Given the description of an element on the screen output the (x, y) to click on. 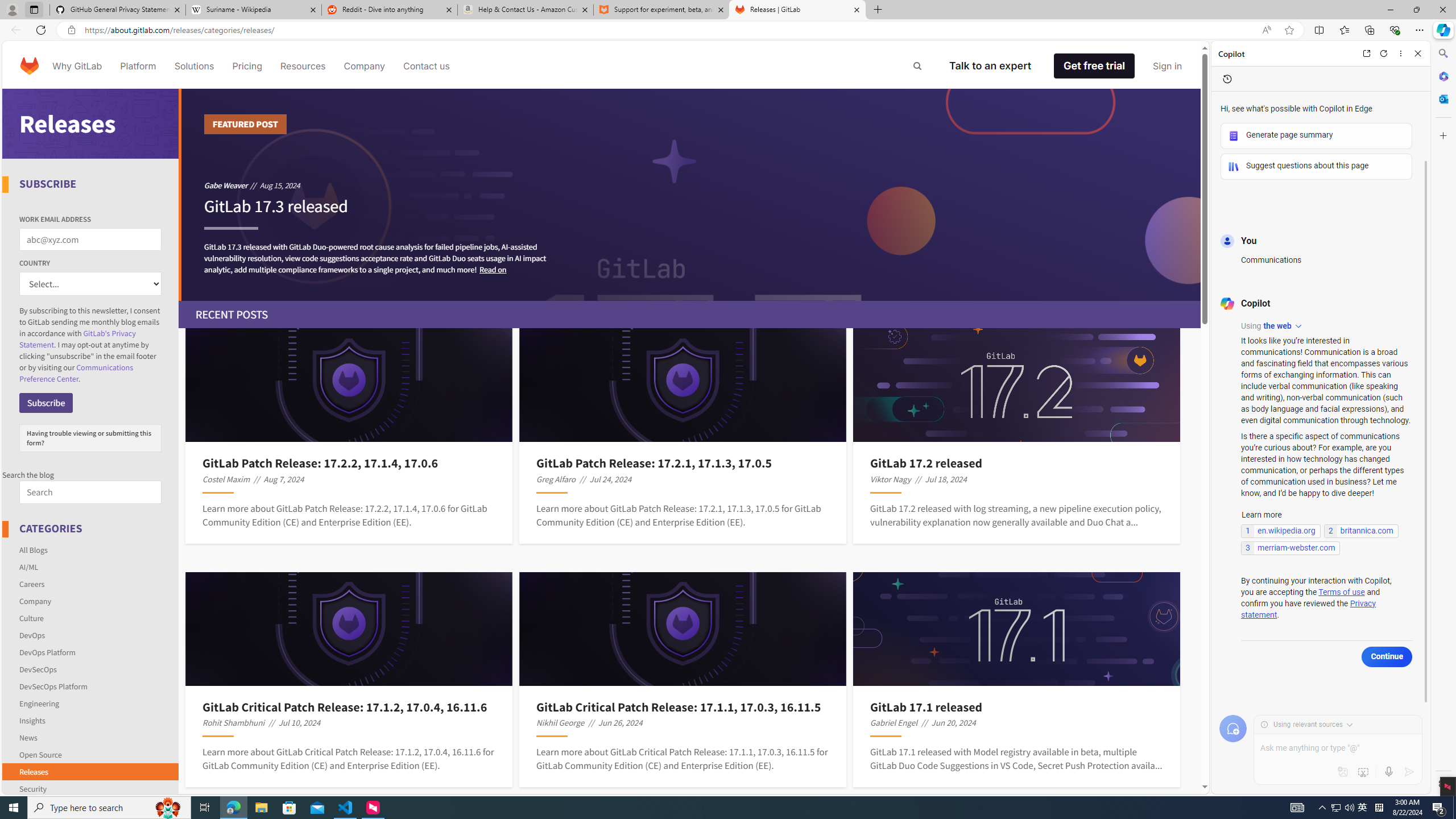
Rohit Shambhuni (233, 722)
Insights (90, 719)
Pricing (246, 65)
Careers (90, 583)
Read on (492, 269)
Resources (302, 65)
Get free trial (1094, 65)
DevOps (90, 634)
Communications Preference Center (75, 372)
Why GitLab (77, 65)
Resources (302, 65)
Suriname - Wikipedia (253, 9)
